Given the description of an element on the screen output the (x, y) to click on. 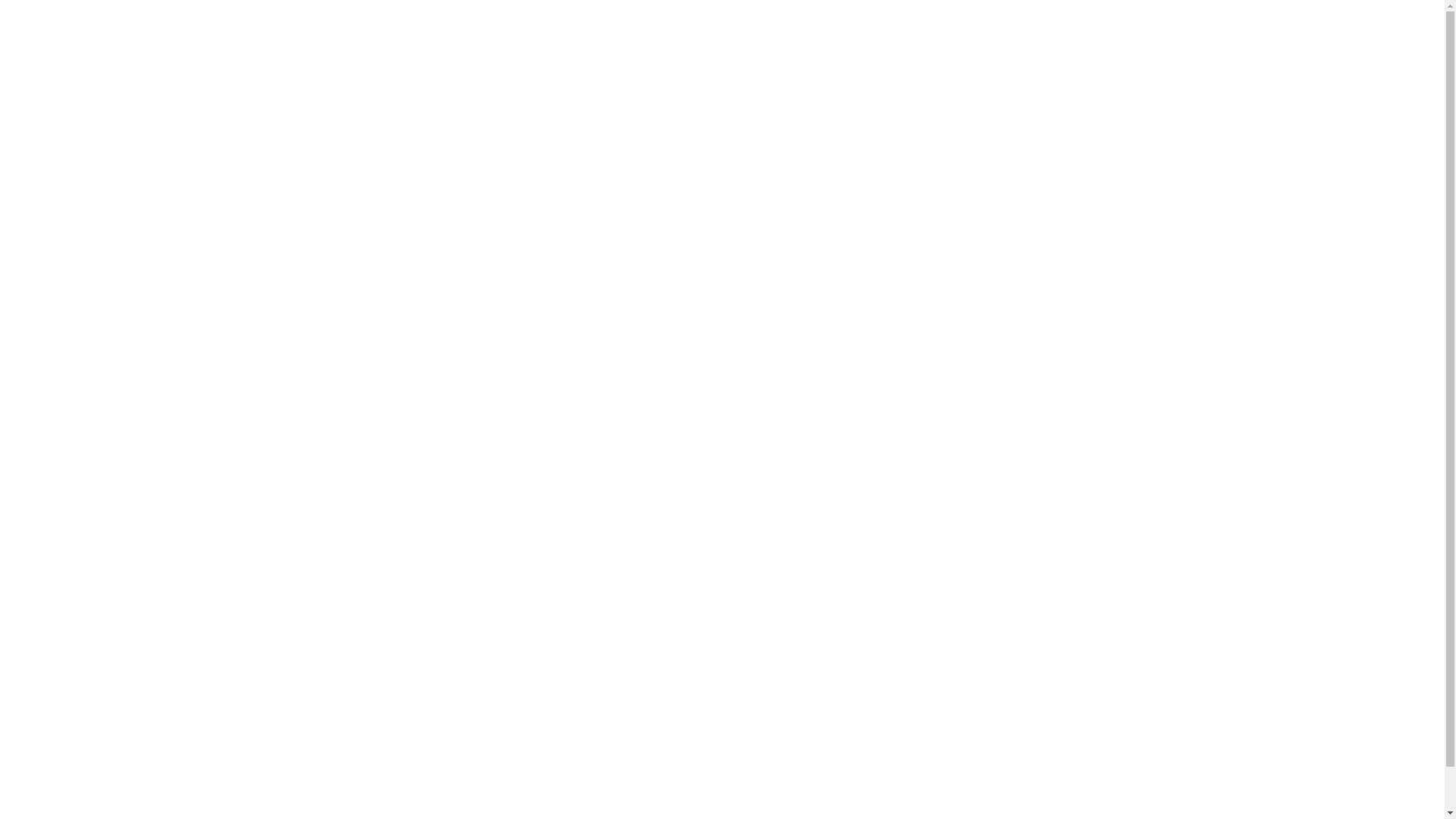
SHOP Element type: text (1274, 18)
MONA Element type: text (722, 17)
CONNECT Element type: text (1342, 18)
TICKETS Element type: text (1210, 18)
VISIT Element type: text (1149, 18)
